Given the description of an element on the screen output the (x, y) to click on. 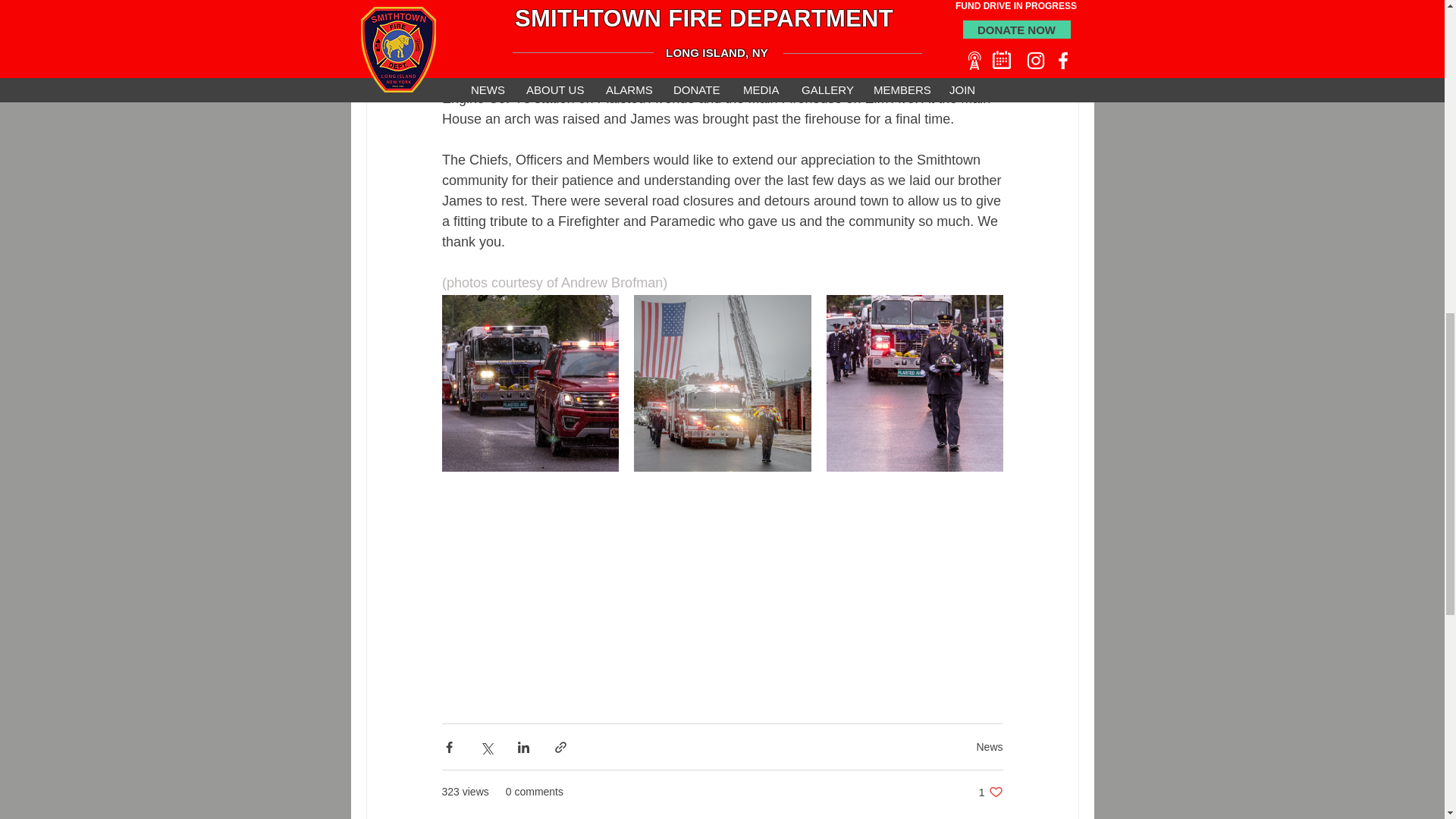
News (990, 791)
